Given the description of an element on the screen output the (x, y) to click on. 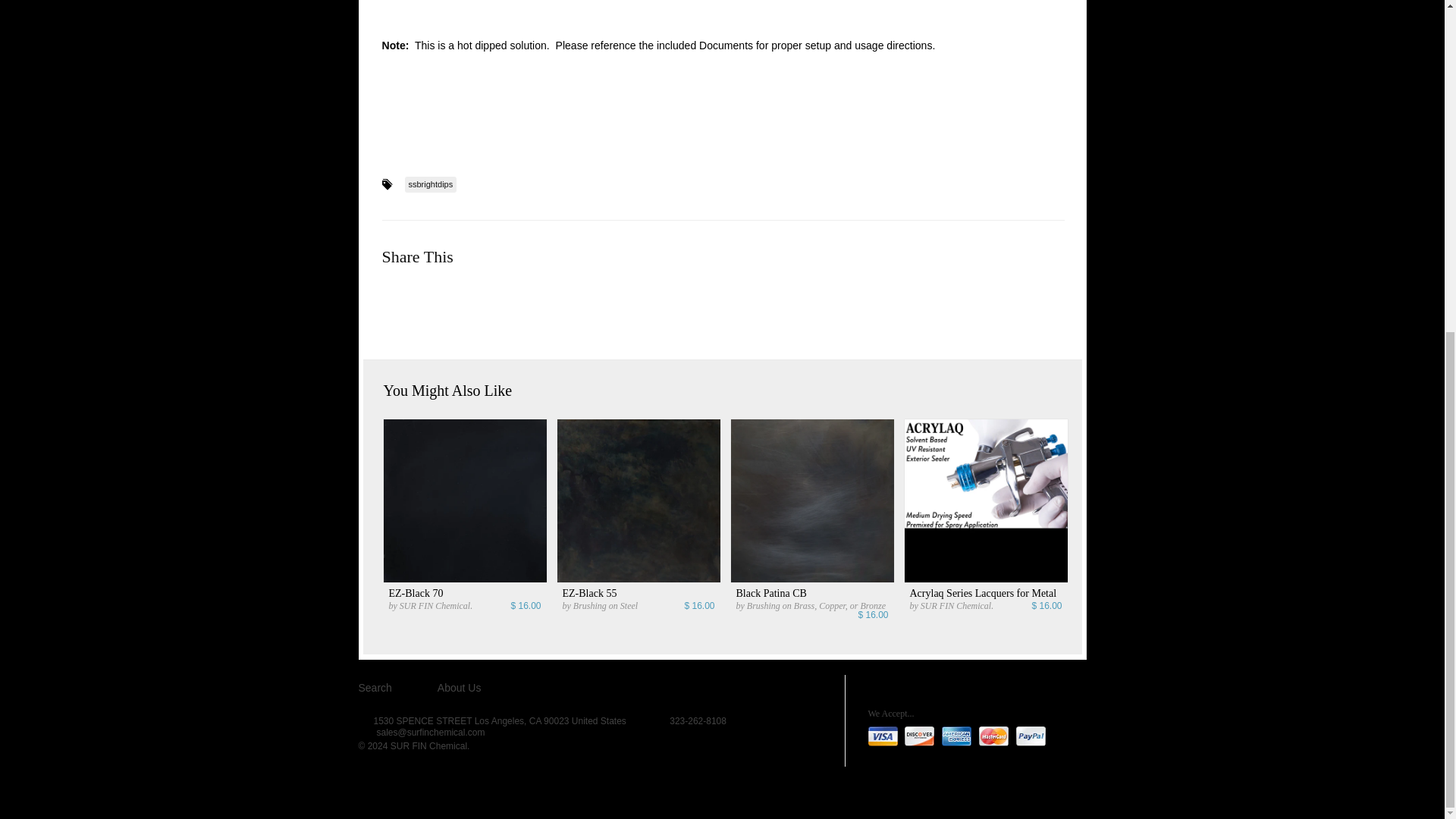
About Us (459, 687)
Search (374, 687)
ssbrightdips (430, 184)
